Given the description of an element on the screen output the (x, y) to click on. 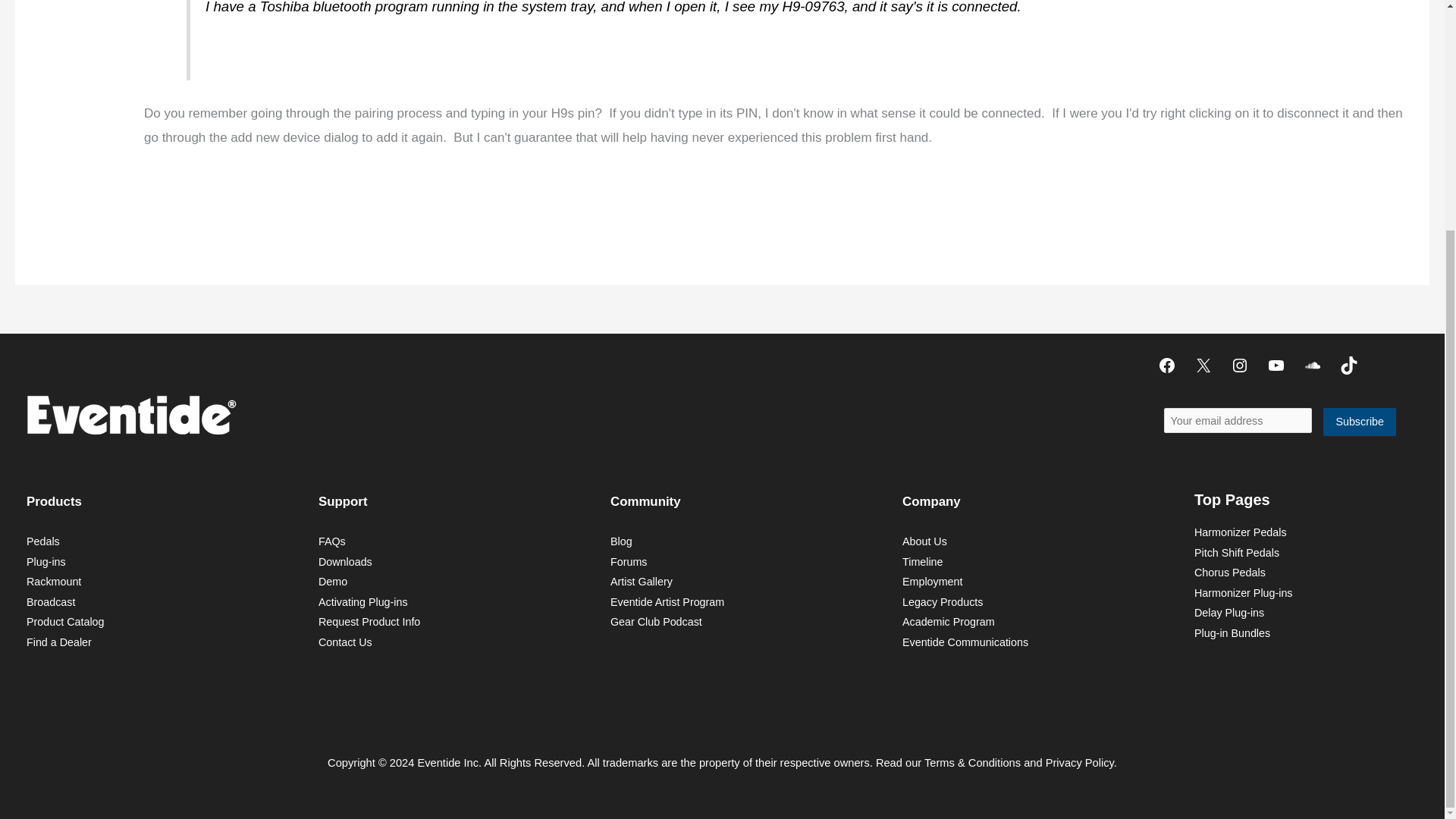
eventide-logo-white (130, 414)
Subscribe (1359, 421)
